Given the description of an element on the screen output the (x, y) to click on. 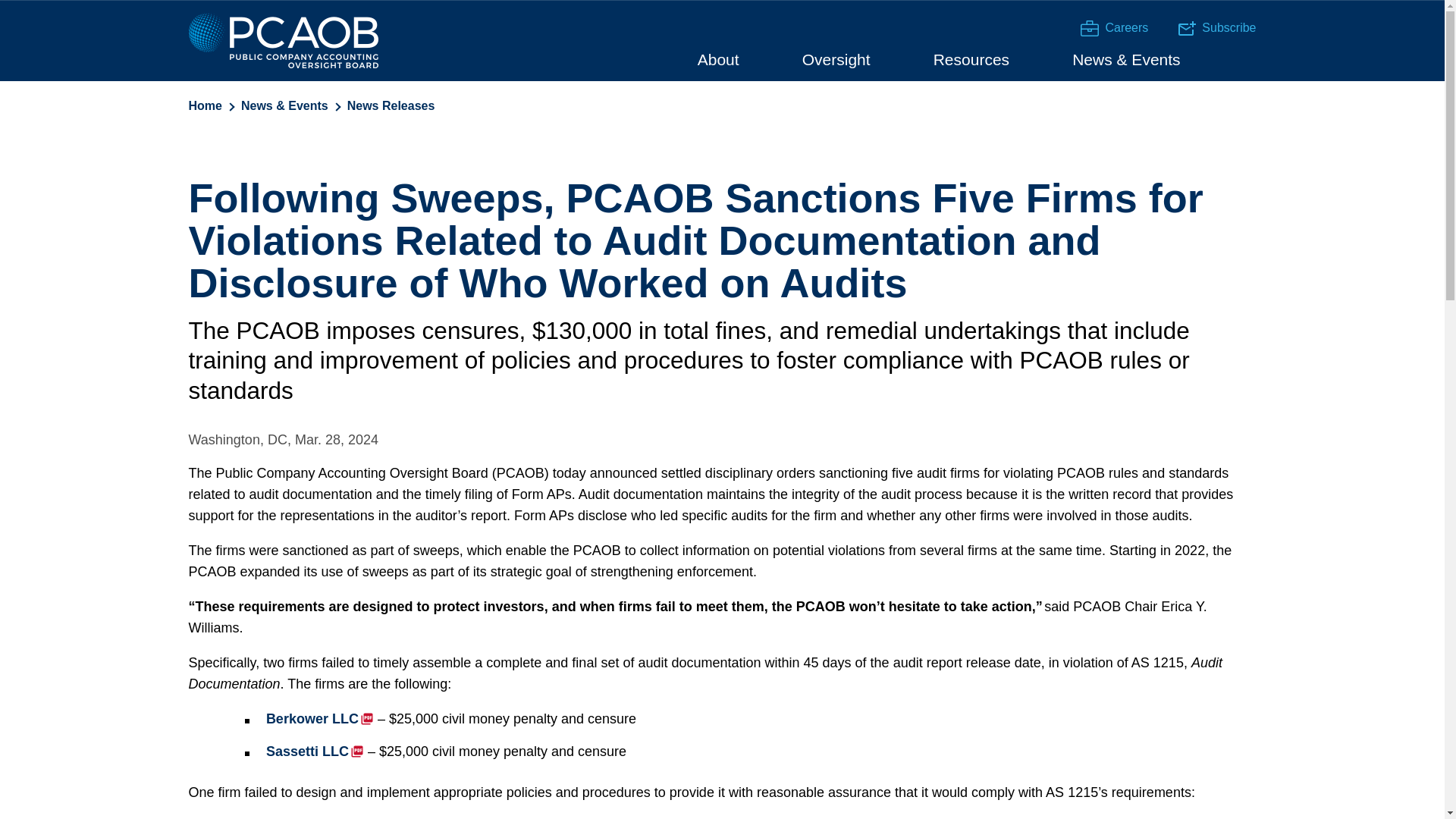
Subscribe (1186, 28)
Careers (1114, 27)
Careers (1089, 28)
About (718, 58)
Oversight (836, 58)
Subscribe (1216, 27)
